Given the description of an element on the screen output the (x, y) to click on. 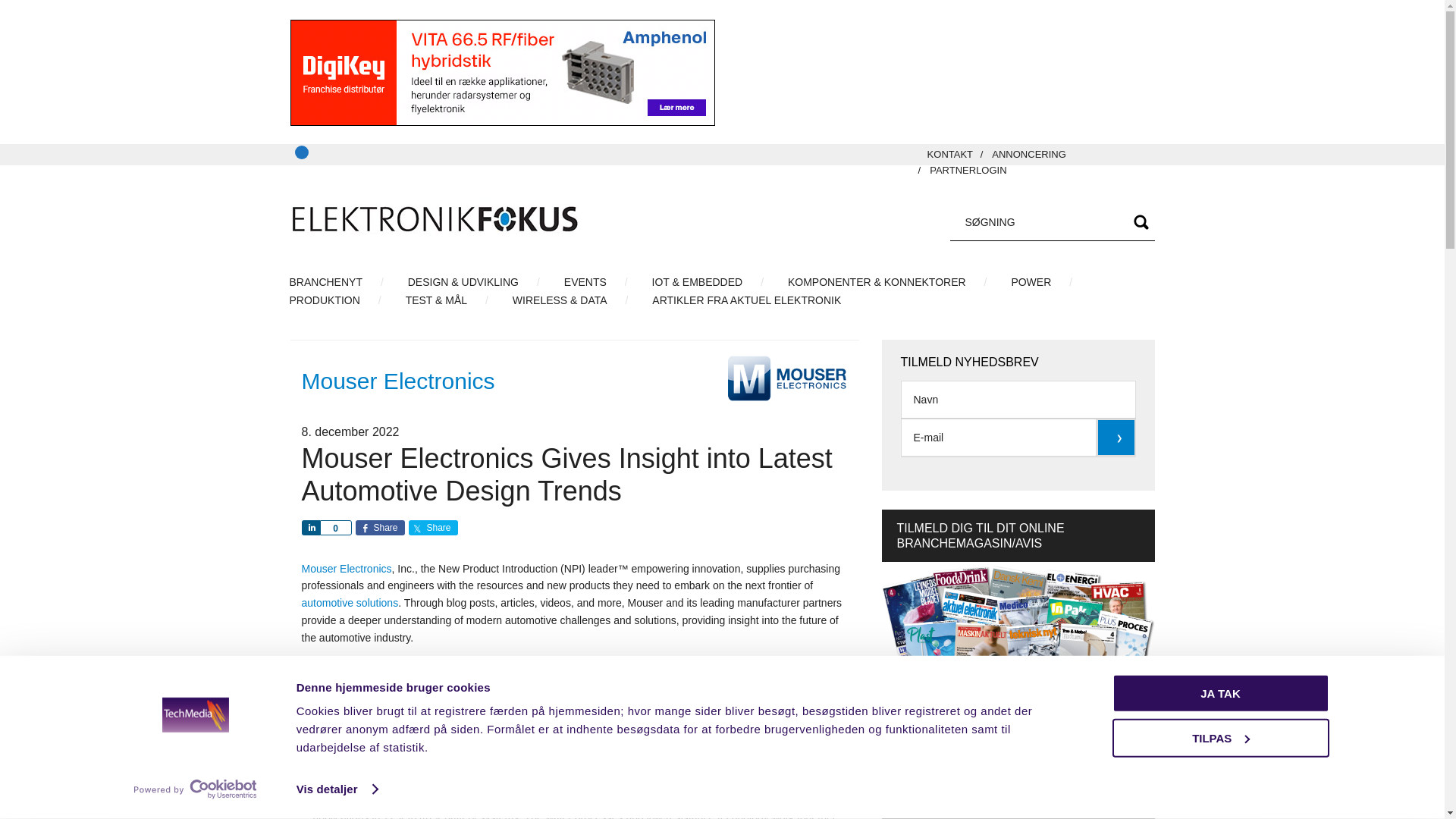
Vis detaljer (337, 789)
3rd party ad content (935, 72)
3rd party ad content (501, 72)
